Given the description of an element on the screen output the (x, y) to click on. 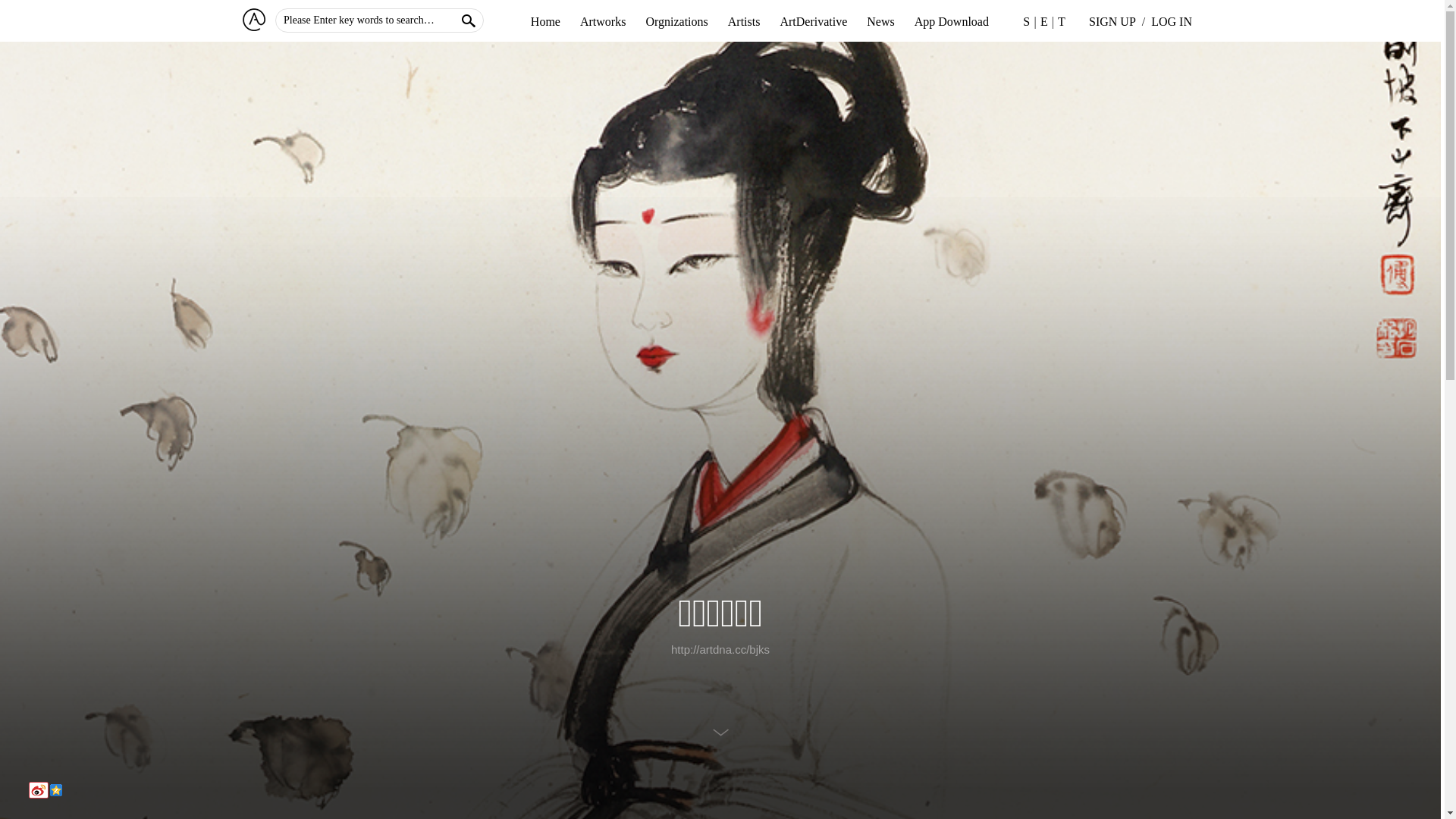
SIGN UP Element type: text (1111, 21)
Artists Element type: text (744, 21)
News Element type: text (880, 21)
Orgnizations Element type: text (676, 21)
Home Element type: text (545, 21)
http://artdna.cc/bjks Element type: text (720, 649)
App Download Element type: text (951, 21)
LOG IN Element type: text (1171, 21)
Artworks Element type: text (602, 21)
T Element type: text (1061, 21)
E Element type: text (1043, 21)
ArtDerivative Element type: text (813, 21)
S Element type: text (1026, 21)
